Given the description of an element on the screen output the (x, y) to click on. 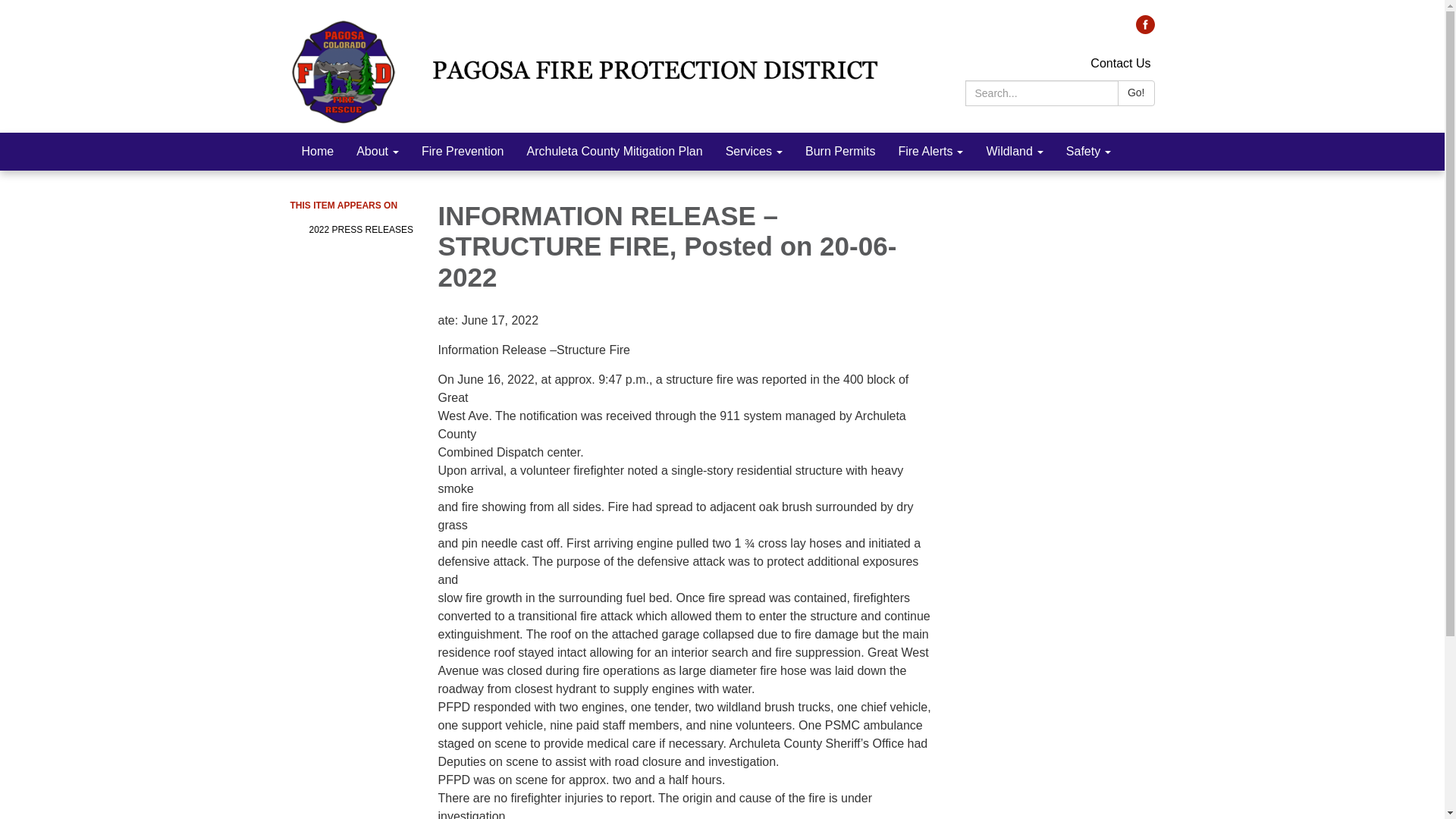
Home (317, 151)
Contact Us (1119, 62)
Archuleta County Mitigation Plan (614, 151)
About (377, 151)
Fire Prevention (462, 151)
Go! (1136, 93)
